Given the description of an element on the screen output the (x, y) to click on. 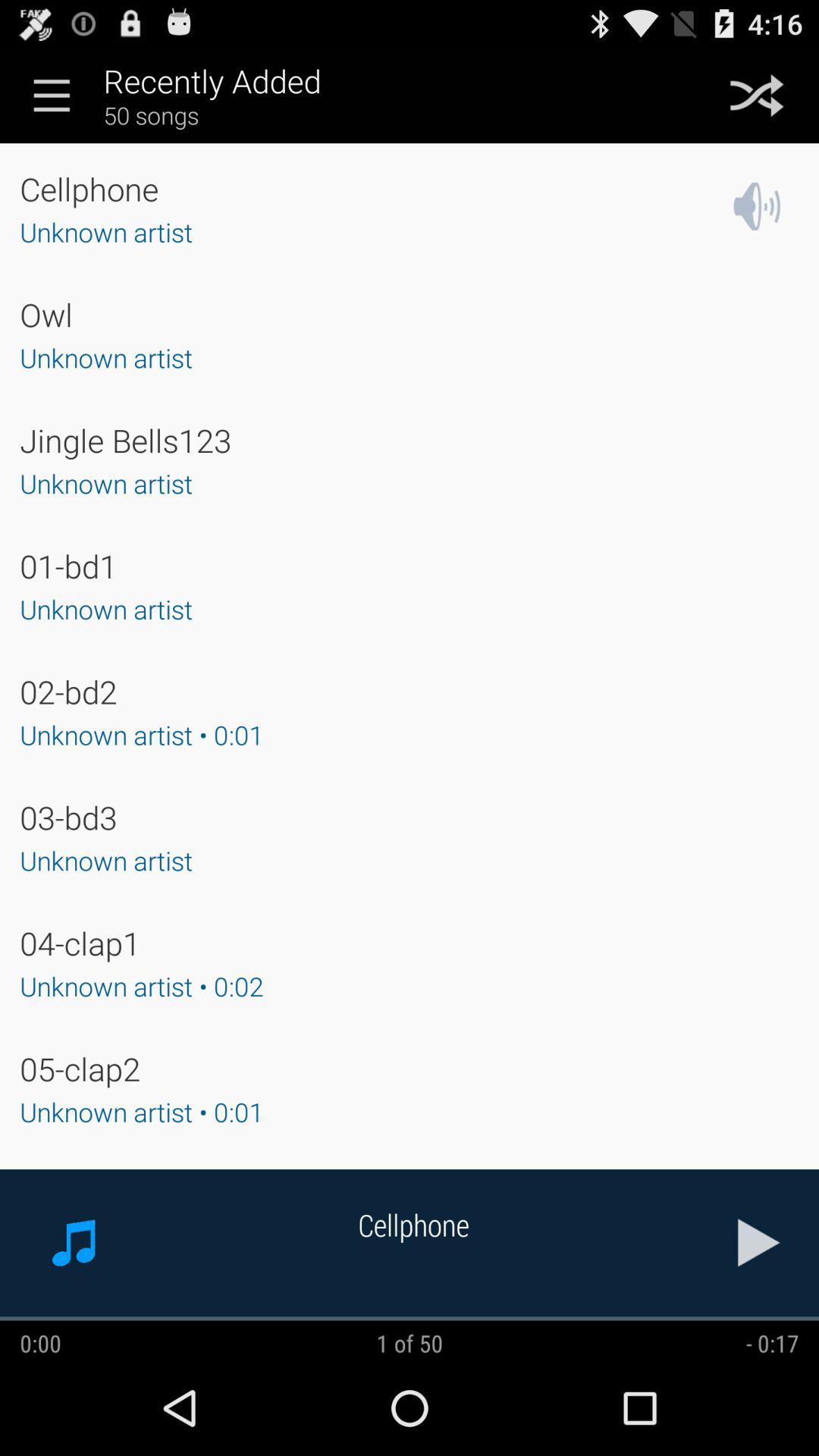
shuffle (756, 95)
